Given the description of an element on the screen output the (x, y) to click on. 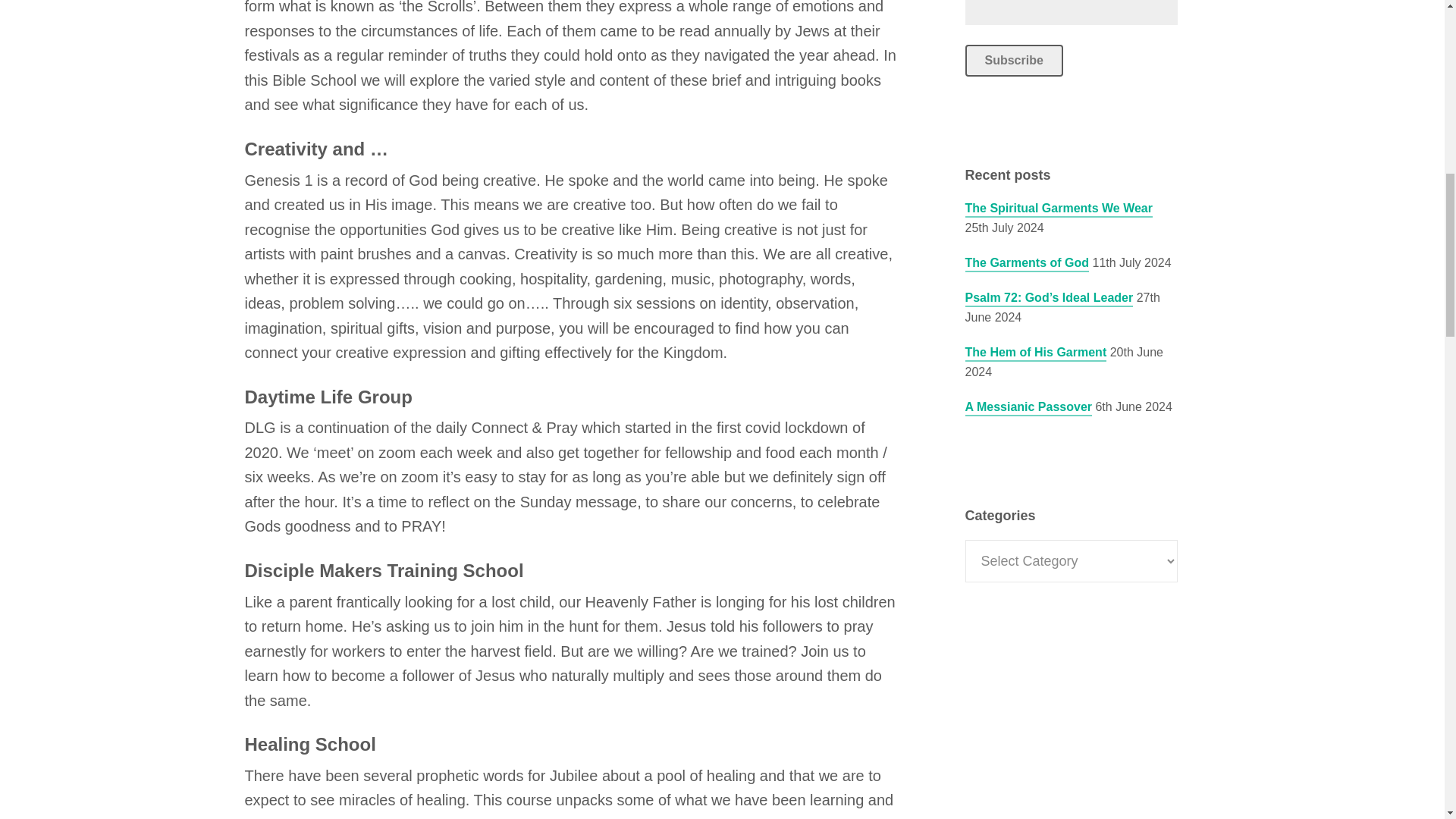
Subscribe (1012, 60)
